Given the description of an element on the screen output the (x, y) to click on. 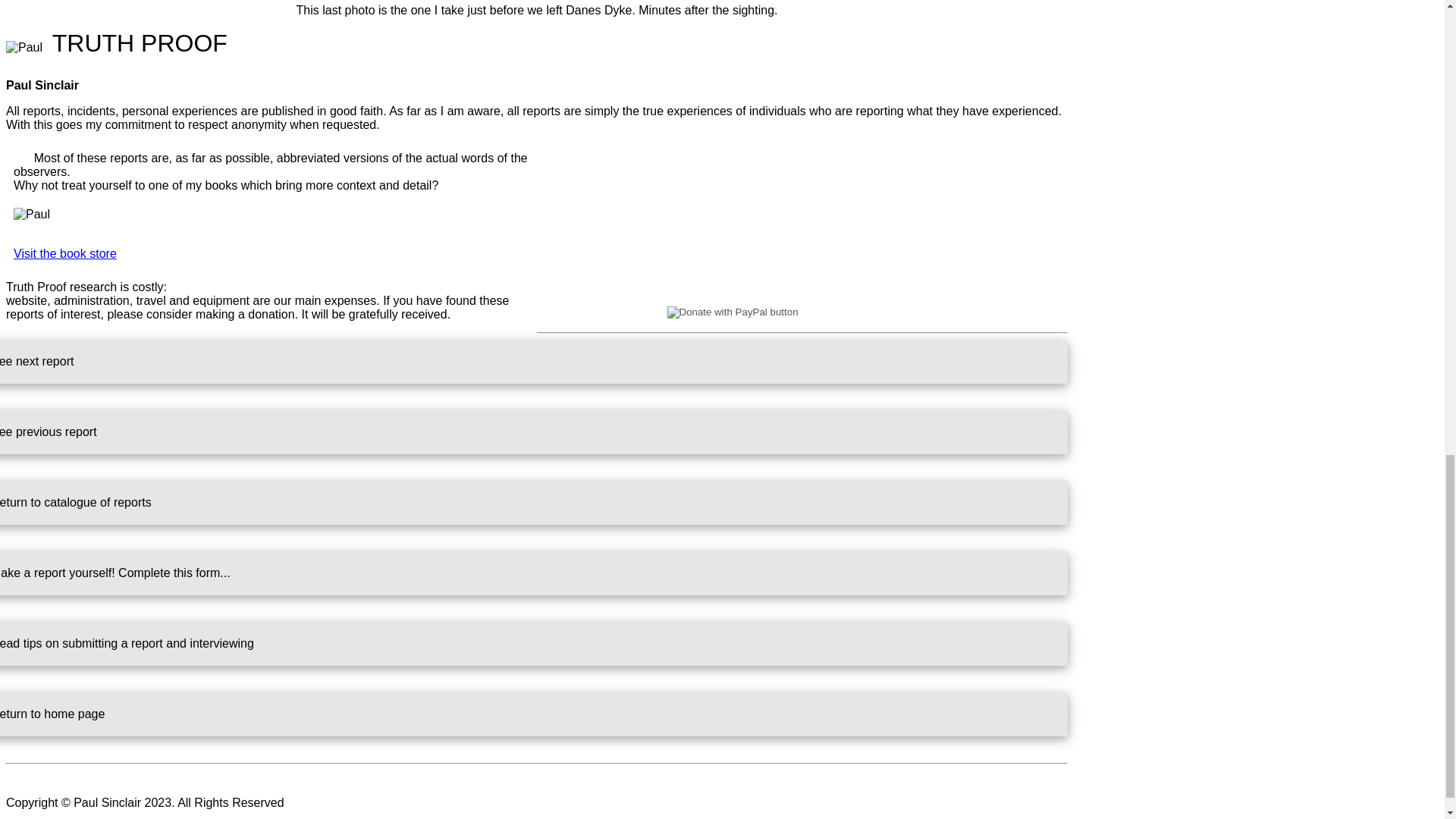
See next report (533, 361)
PayPal - The safer, easier way to pay online! (801, 312)
See previous report (533, 432)
Return to home page (533, 714)
Read tips on submitting a report and interviewing (533, 643)
Make a report yourself! Complete this form... (533, 573)
Return to catalogue of reports (533, 502)
Visit the book store (64, 253)
